Given the description of an element on the screen output the (x, y) to click on. 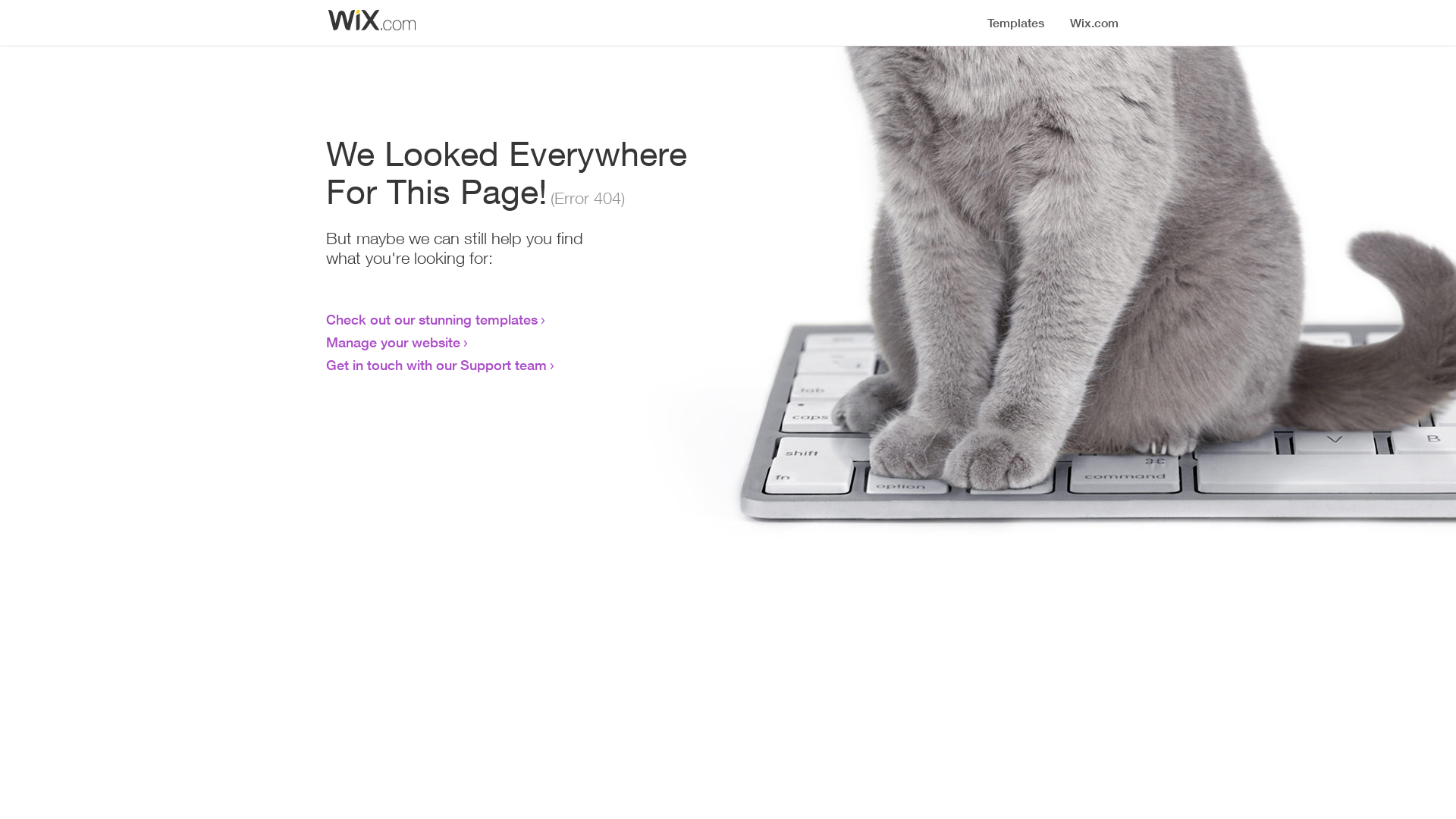
Check out our stunning templates Element type: text (431, 318)
Manage your website Element type: text (393, 341)
Get in touch with our Support team Element type: text (436, 364)
